Given the description of an element on the screen output the (x, y) to click on. 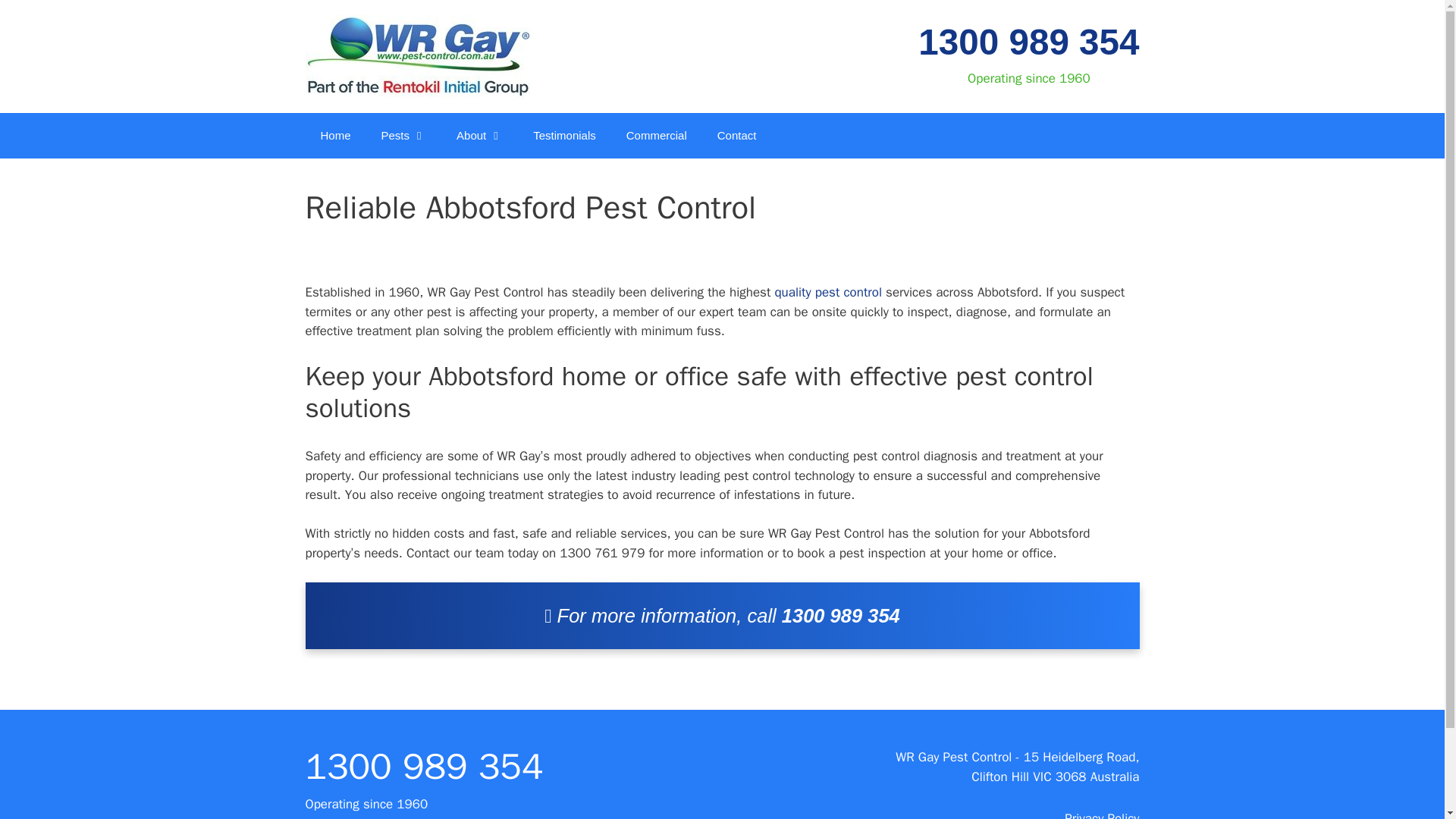
Contact (736, 135)
Pests Control (404, 135)
1300 989 354 (423, 766)
Pest-Control Melbourne (334, 135)
1300 989 354 (840, 615)
1300 989 354 (1028, 42)
quality pest control (828, 292)
About (479, 135)
Pests (404, 135)
About Us (479, 135)
